Given the description of an element on the screen output the (x, y) to click on. 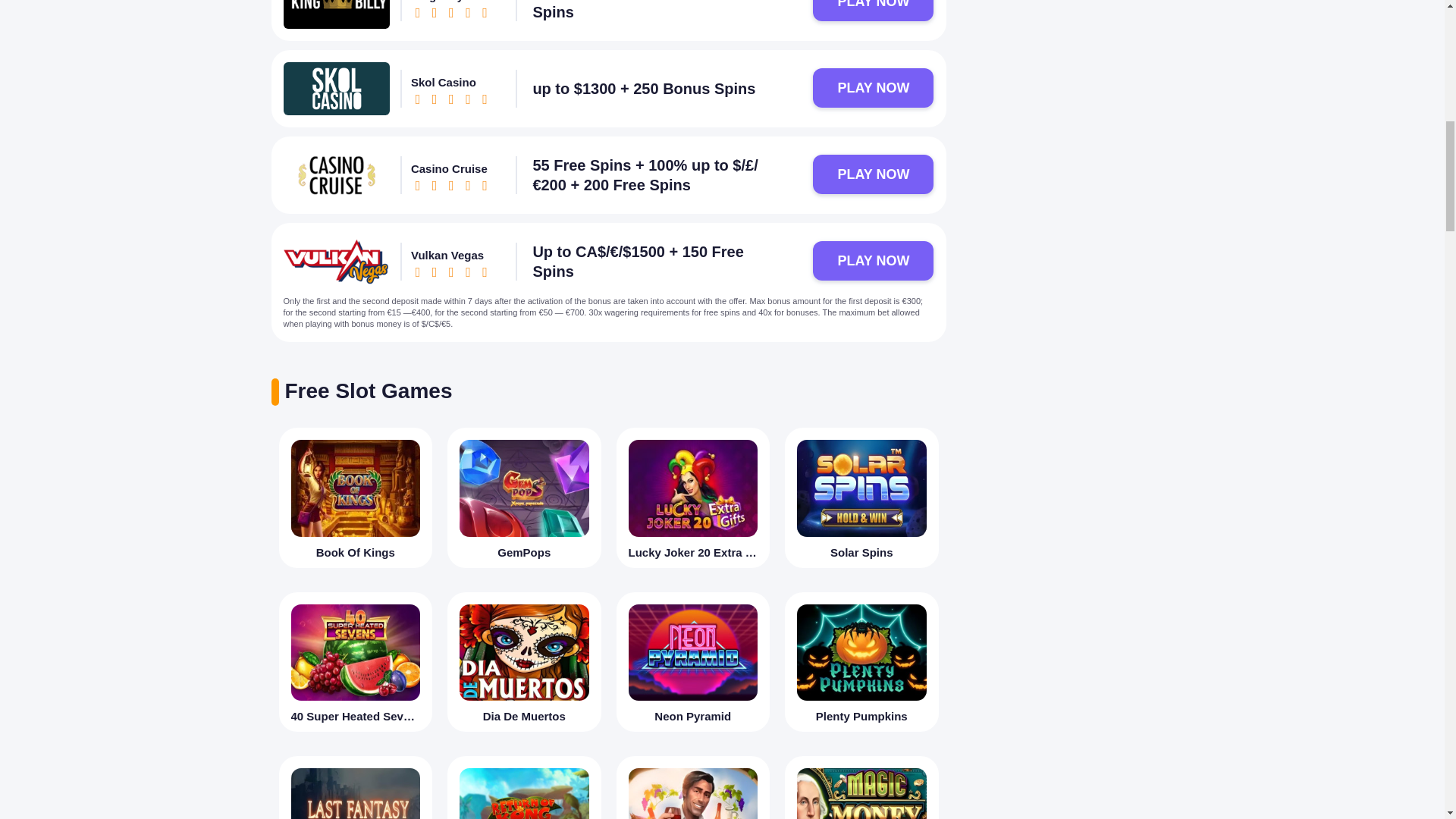
Solar Spins (861, 497)
Dia-De-Muertos (524, 652)
40 Super Heated Sevens (355, 662)
40-Super-Heated-Sevens (355, 652)
Solar-Spins (861, 488)
Lucky-Joker-20-Extra-Gifts (692, 488)
Lucky Joker 20 Extra Gifts (692, 497)
Plenty-Pumpkins (861, 652)
Neon Pyramid (692, 662)
Plenty Pumpkins (861, 662)
GemPops (524, 488)
GemPops (523, 497)
Dia De Muertos (523, 662)
Book Of Kings (355, 497)
Last Fantasy (355, 787)
